Given the description of an element on the screen output the (x, y) to click on. 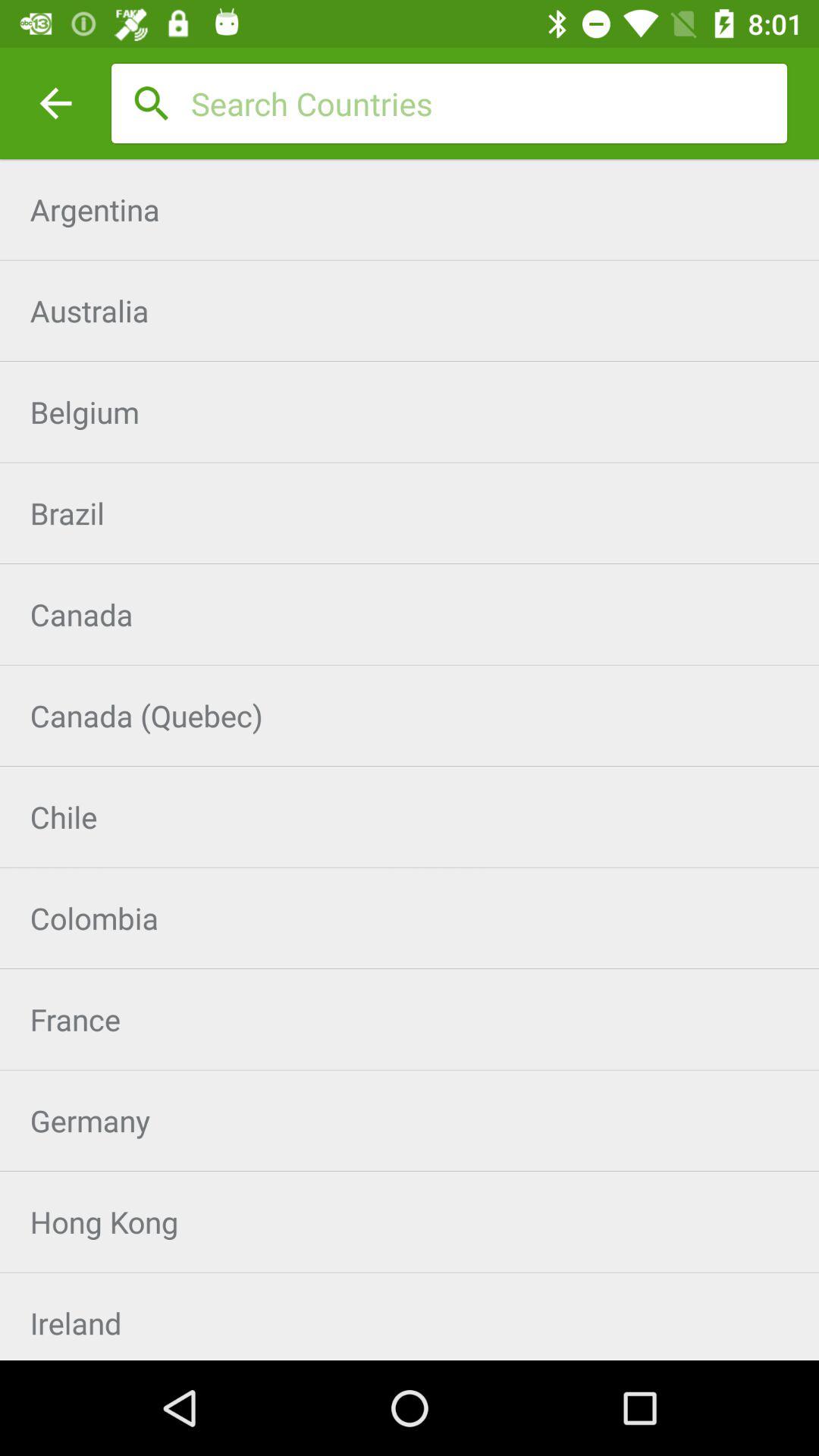
open item above the chile item (409, 715)
